Given the description of an element on the screen output the (x, y) to click on. 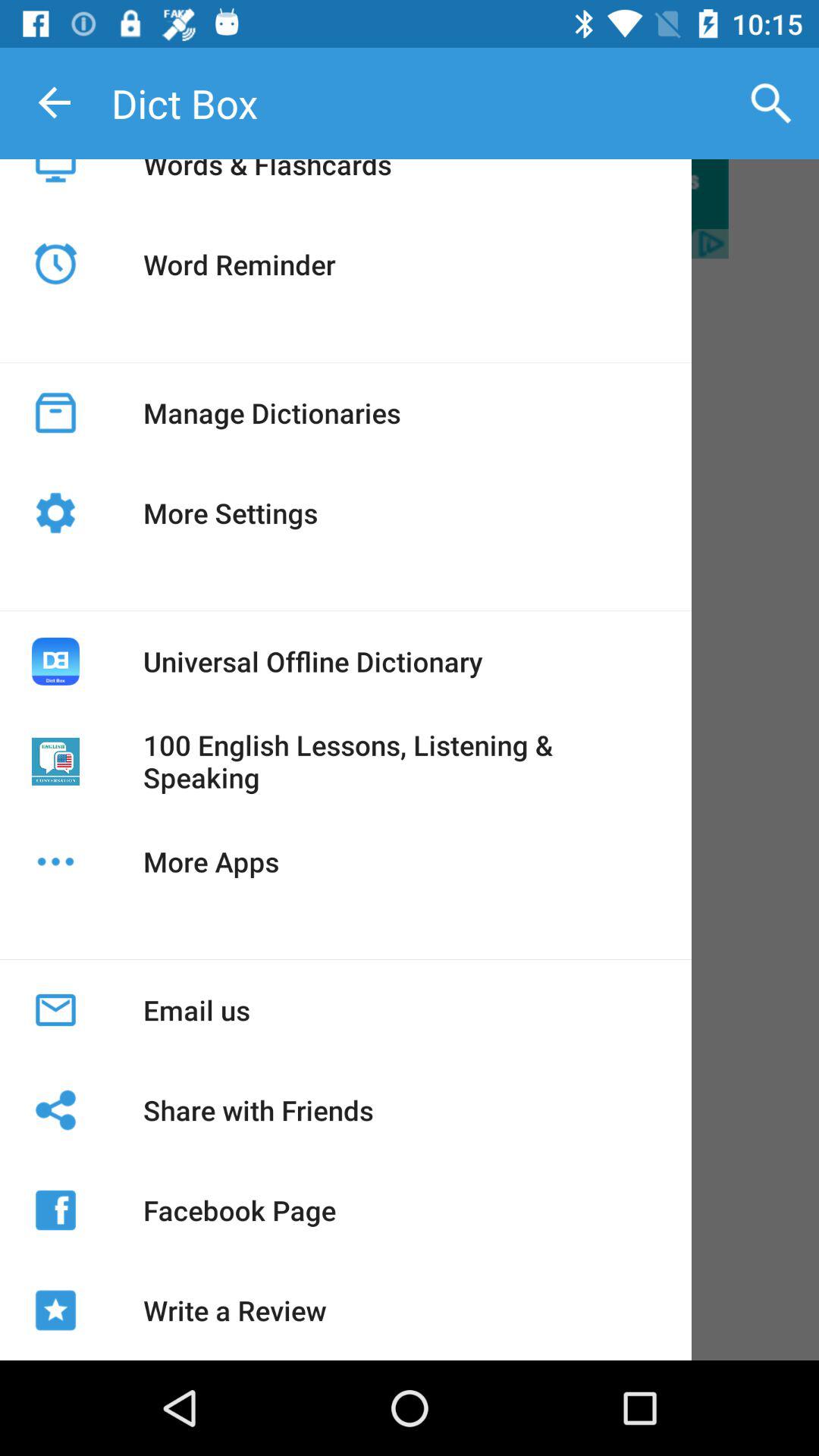
look for words (409, 208)
